Given the description of an element on the screen output the (x, y) to click on. 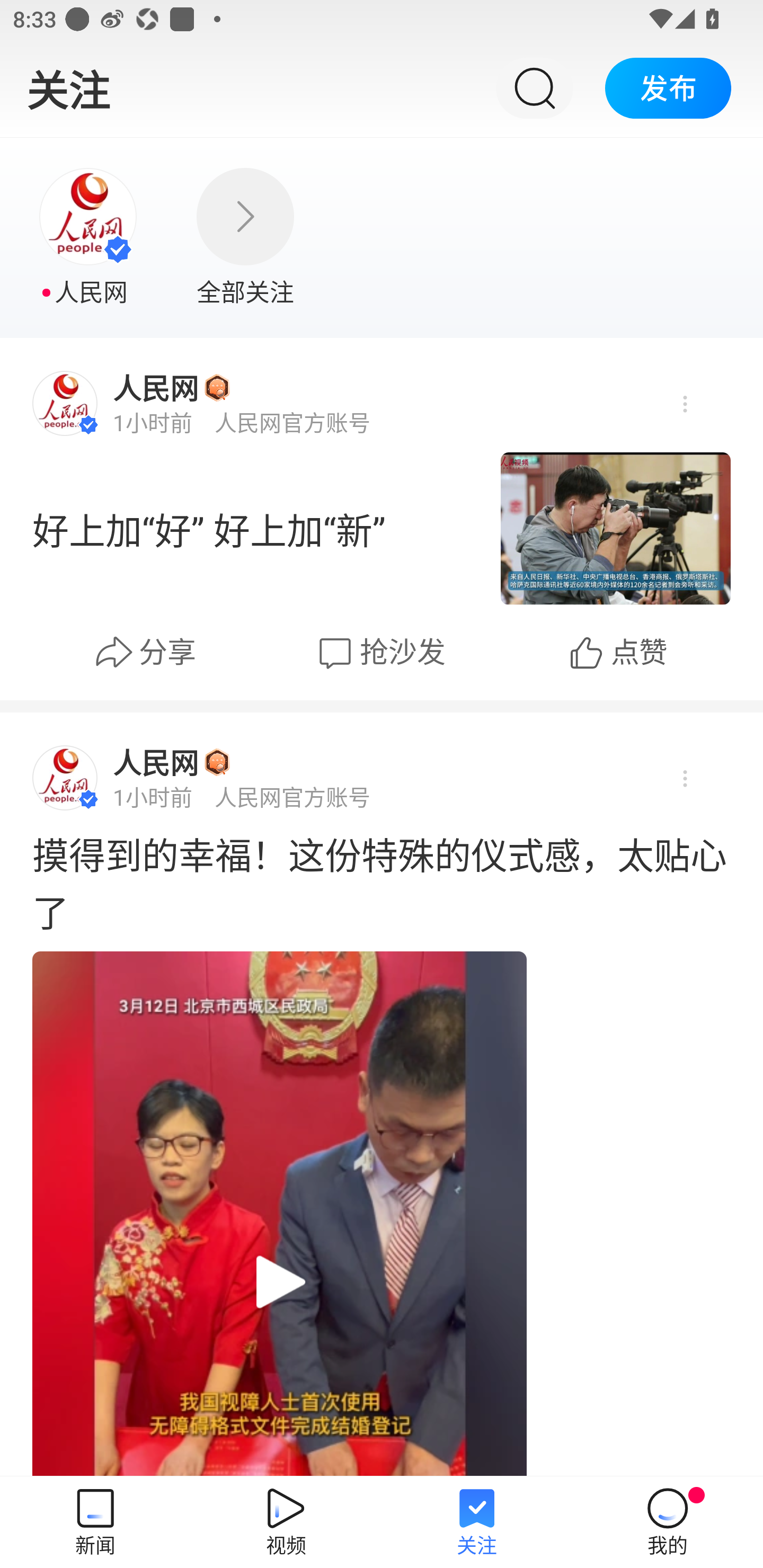
搜索 关注 (534, 87)
发布 关注 (667, 87)
关注 (67, 87)
人民网，可点击 (90, 237)
全部关注，可点击 (244, 237)
人民网 (155, 387)
勋章 (216, 387)
 不感兴趣 (683, 404)
好上加“好” 好上加“新” (253, 528)
分享  分享 (144, 652)
抢沙发  抢沙发 (379, 652)
点赞 (616, 652)
人民网 (155, 762)
勋章 (216, 761)
 不感兴趣 (683, 778)
1小时前　人民网官方账号 (241, 797)
摸得到的幸福！这份特殊的仪式感，太贴心了 (381, 881)
